Given the description of an element on the screen output the (x, y) to click on. 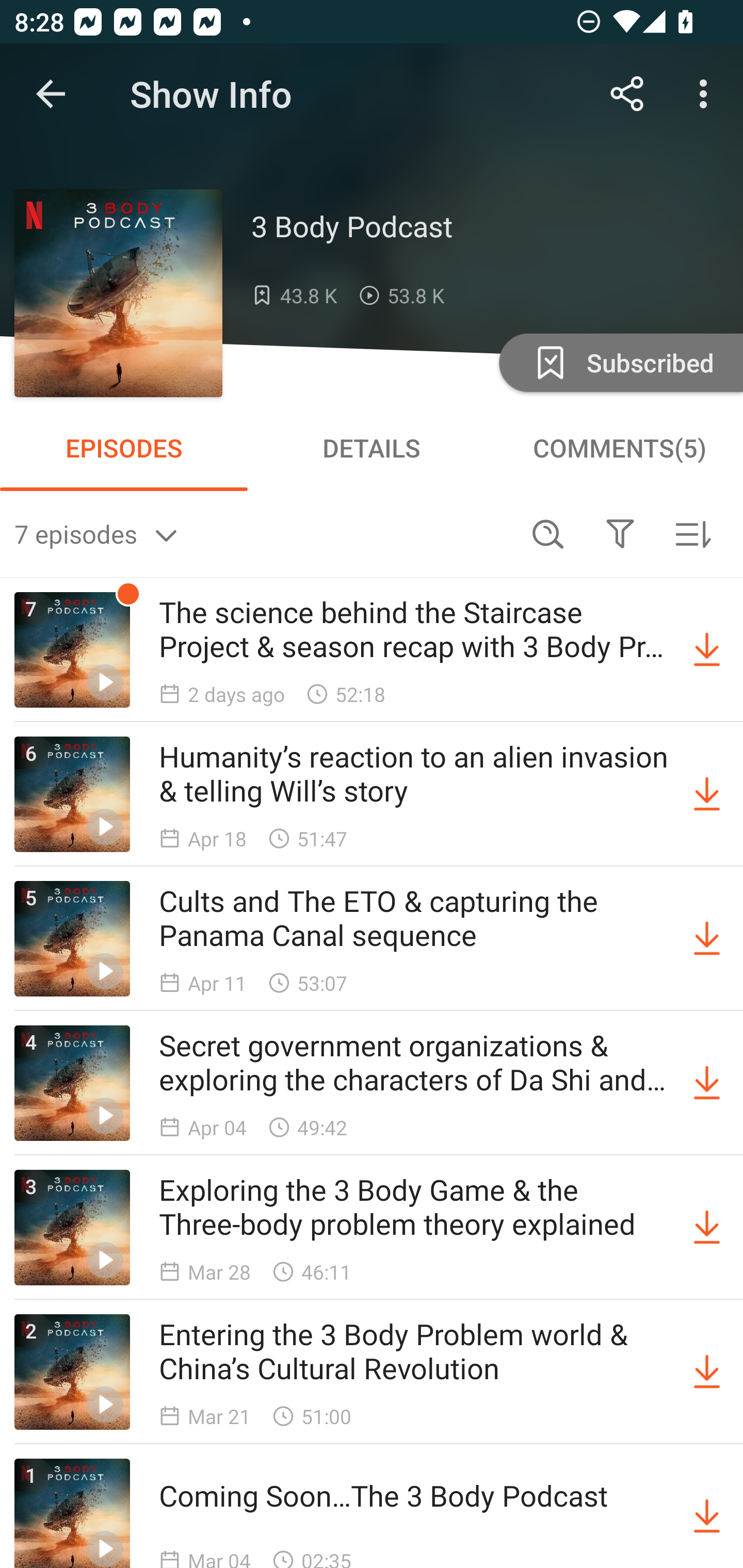
Navigate up (50, 93)
Share (626, 93)
More options (706, 93)
Unsubscribe Subscribed (619, 361)
EPISODES (123, 447)
DETAILS (371, 447)
COMMENTS(5) (619, 447)
7 episodes  (262, 533)
 Search (547, 533)
 (619, 533)
 Sorted by newest first (692, 533)
Download (706, 649)
Download (706, 793)
Download (706, 939)
Download (706, 1083)
Download (706, 1227)
Download (706, 1371)
Download (706, 1513)
